Given the description of an element on the screen output the (x, y) to click on. 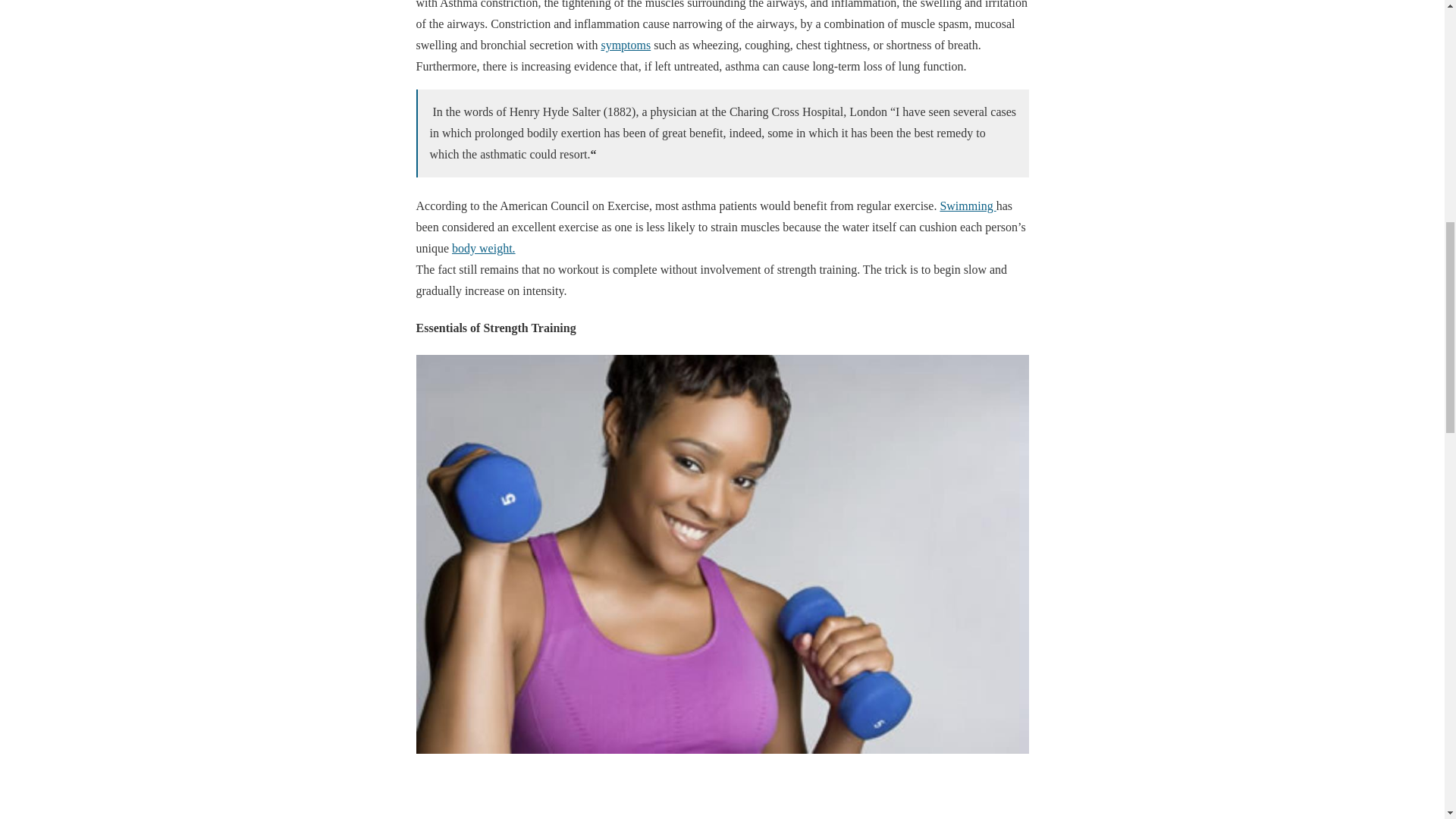
Swimming  (967, 205)
body weight. (483, 247)
symptoms (624, 44)
